Given the description of an element on the screen output the (x, y) to click on. 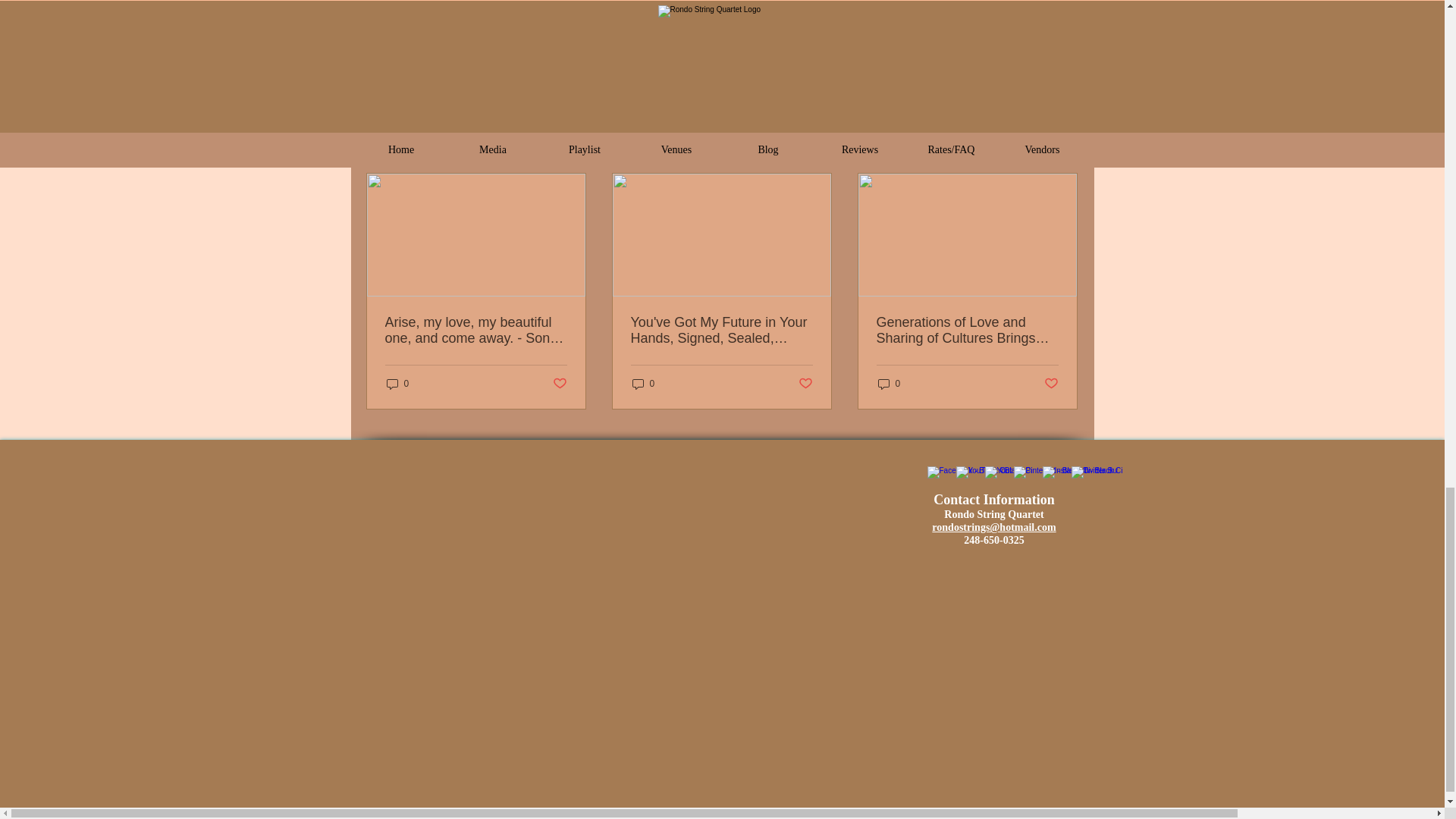
Post not marked as liked (558, 383)
Weddings (979, 19)
See All (1061, 146)
Post not marked as liked (995, 64)
0 (397, 383)
